Given the description of an element on the screen output the (x, y) to click on. 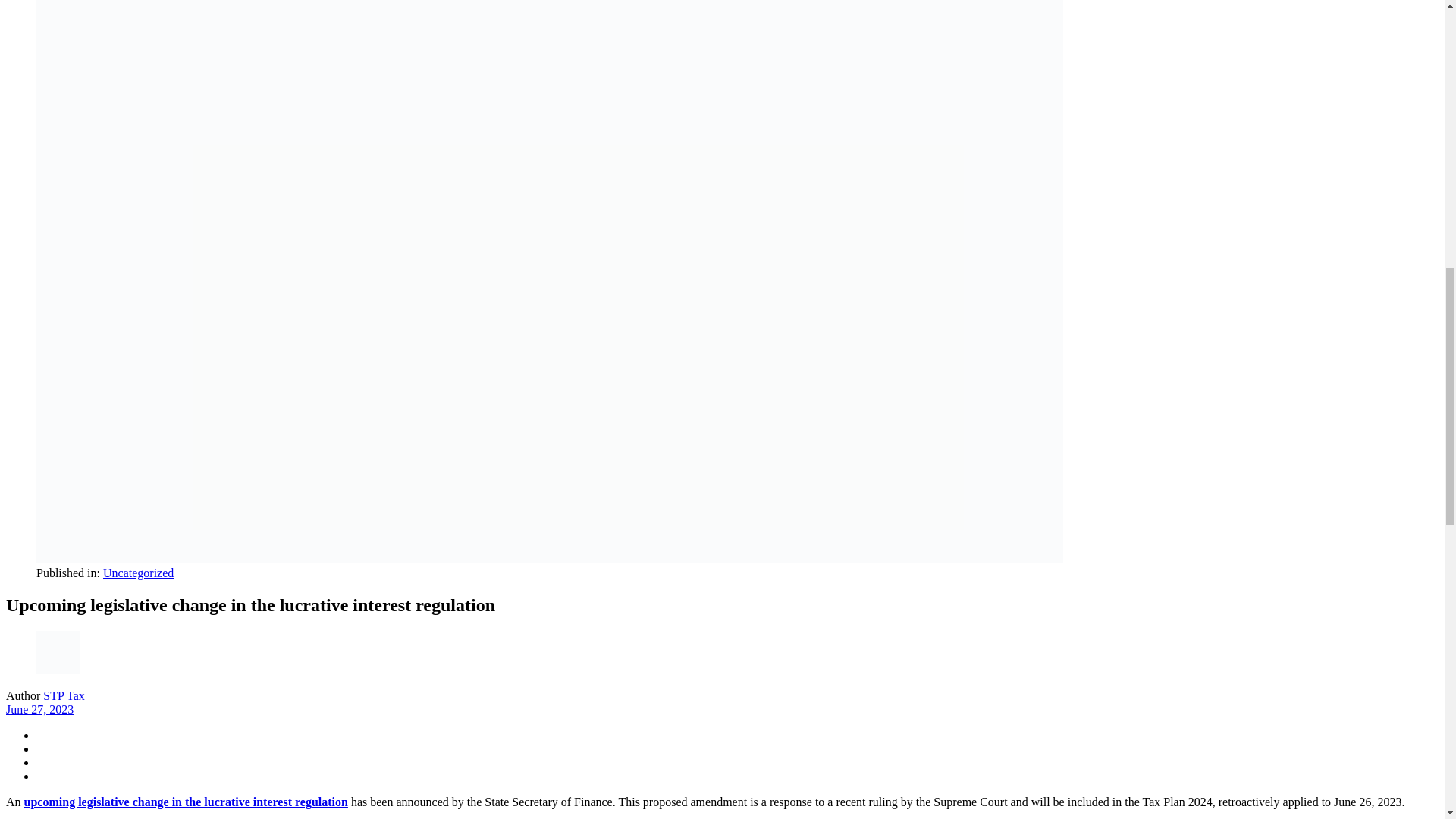
STP Tax (63, 695)
June 27, 2023 (39, 708)
Posts by STP Tax (63, 695)
Uncategorized (138, 572)
